Given the description of an element on the screen output the (x, y) to click on. 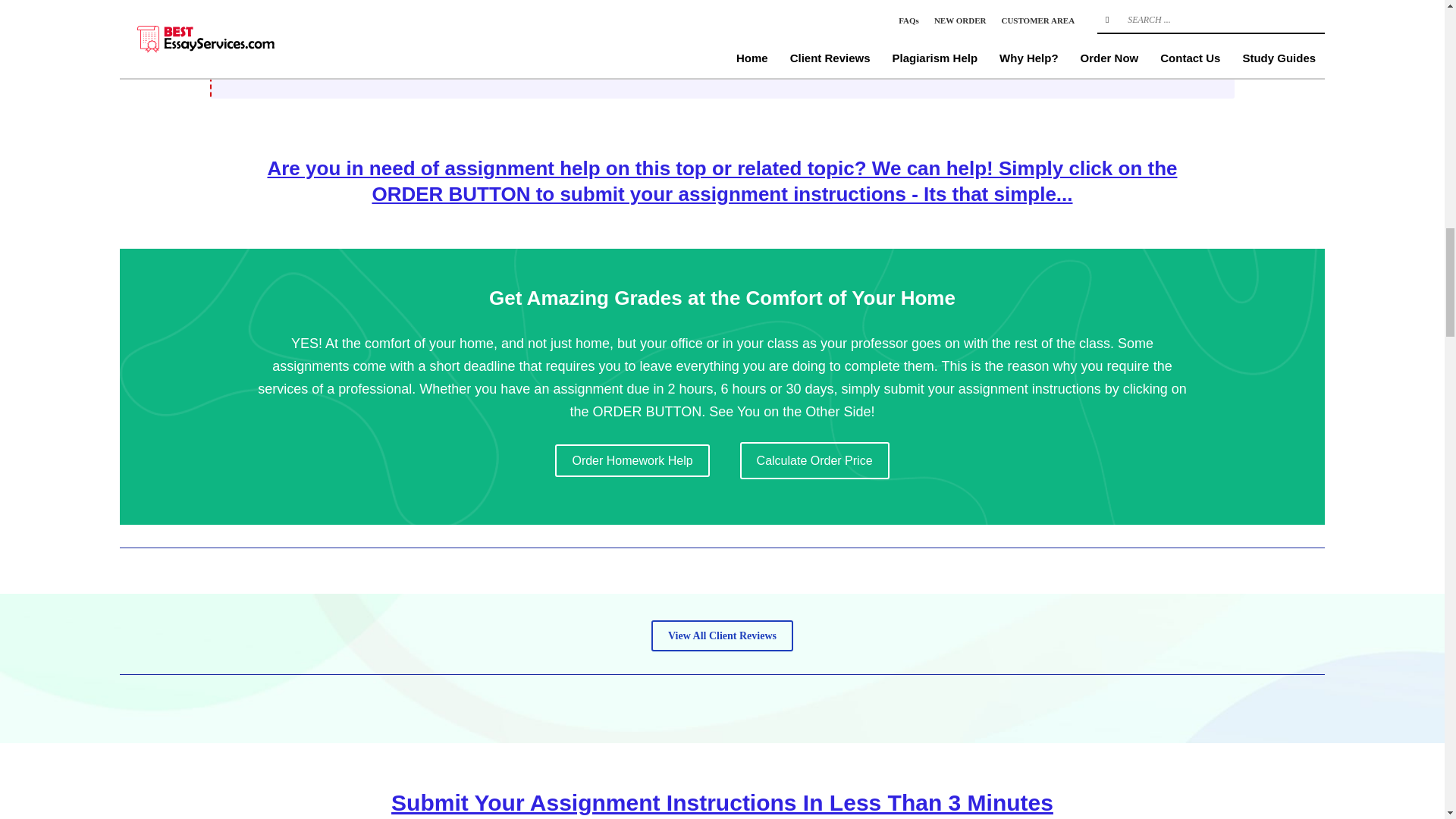
View All Client Reviews (721, 635)
Calculate Order Price (814, 460)
Order Homework Help (631, 460)
